Given the description of an element on the screen output the (x, y) to click on. 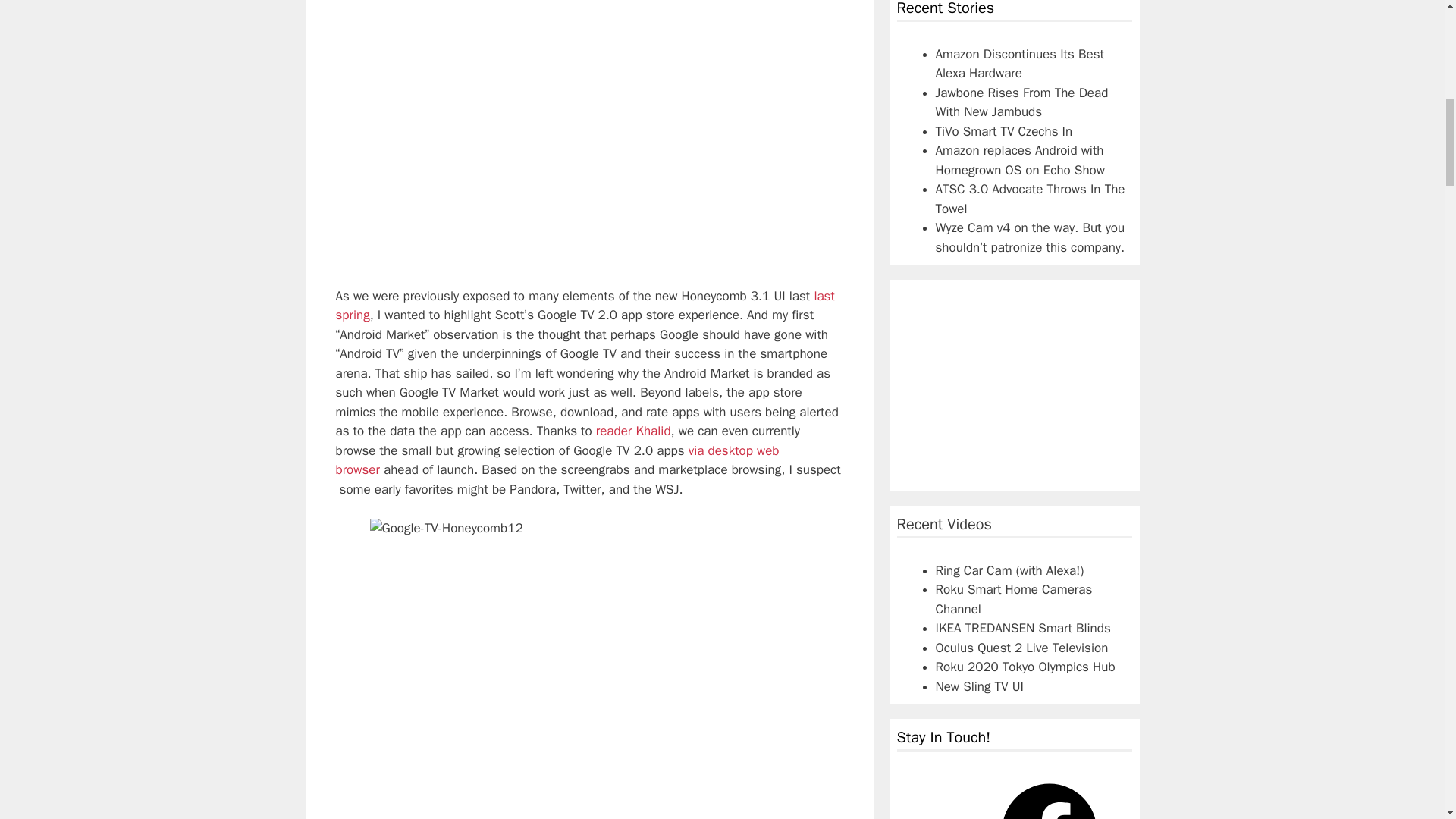
last spring (584, 305)
reader Khalid (633, 430)
via desktop web browser (556, 460)
